Given the description of an element on the screen output the (x, y) to click on. 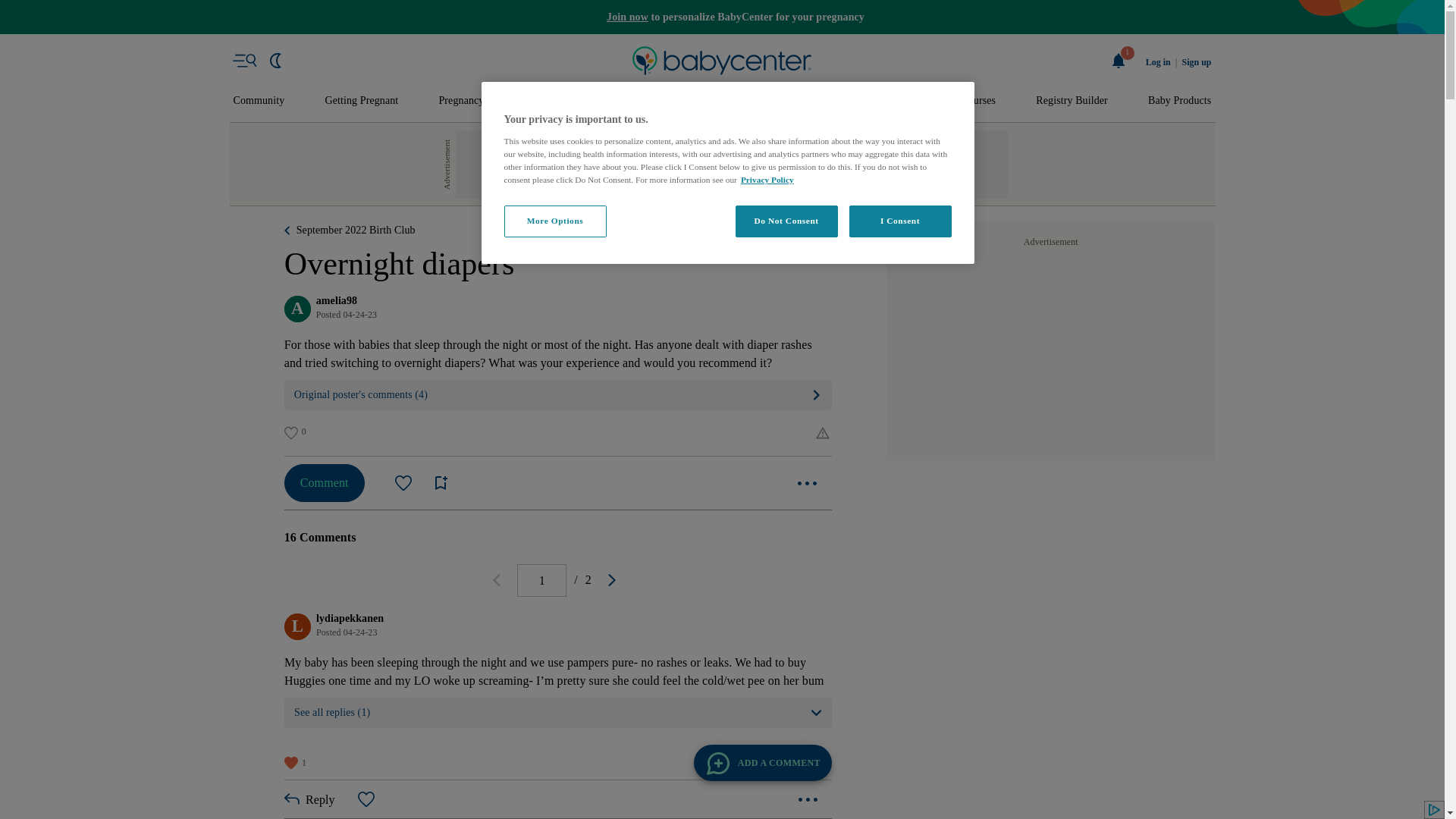
Baby (631, 101)
Community (258, 101)
1 (541, 580)
Sign up (1195, 61)
Log in (1157, 61)
Family (904, 101)
Child (768, 101)
1 (1118, 60)
Baby Names (551, 101)
Baby Products (1179, 101)
Toddler (699, 101)
Courses (977, 101)
Pregnancy (460, 101)
Health (835, 101)
Registry Builder (1071, 101)
